Given the description of an element on the screen output the (x, y) to click on. 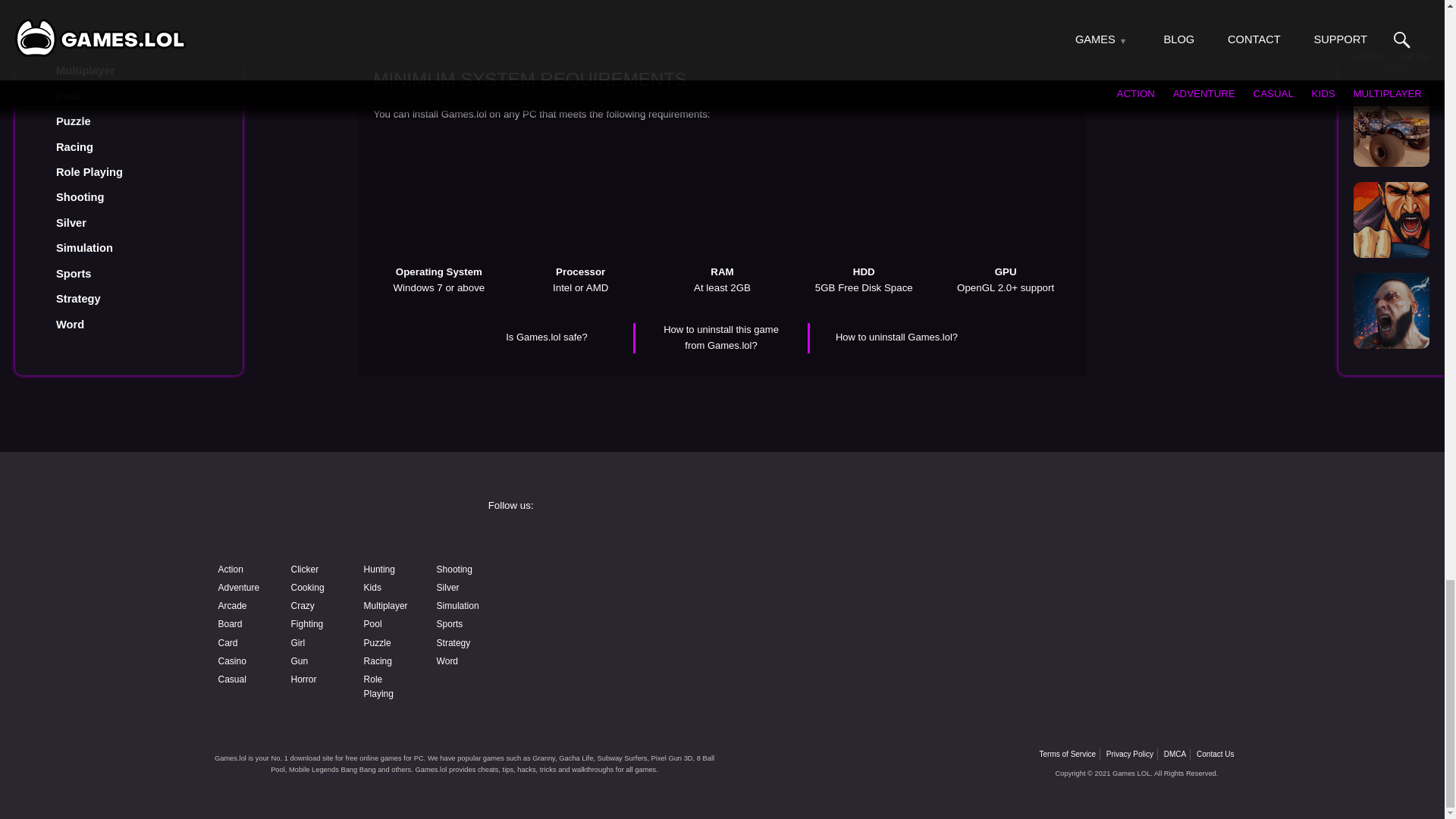
Instagram (838, 540)
Reddit (603, 619)
Twitter (1073, 540)
Facebook (603, 540)
Pinterest (1073, 579)
Games.lol free game download website logo (319, 519)
Discord (838, 579)
YouTube (603, 579)
